Given the description of an element on the screen output the (x, y) to click on. 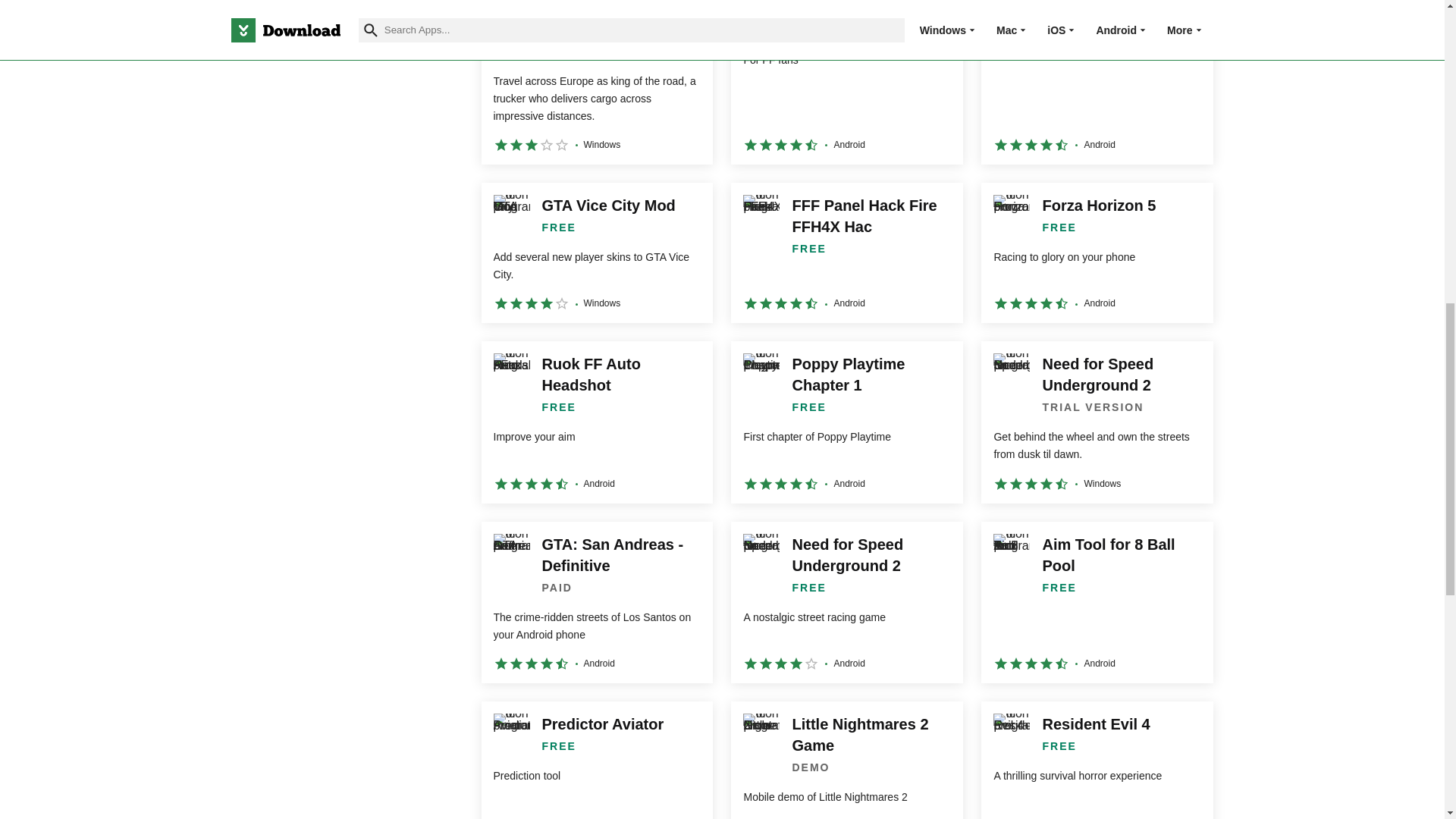
Forza Horizon 5 (1096, 252)
games-sports (239, 21)
games-sudoku-crossword (239, 94)
Need for Speed Underground 2 (1096, 421)
FFF Panel Hack Fire FFH4X Hac (846, 252)
Need for Speed Underground 2 (846, 602)
Euro Truck Simulator 2 (596, 82)
Aviator Predictor (1096, 82)
games-strategy-war (239, 57)
Ruok FF Auto Headshot (596, 421)
GTA: San Andreas - Definitive (596, 602)
Poppy Playtime Chapter 1 (846, 421)
SIGMA FF (846, 82)
GTA Vice City Mod (596, 252)
